Given the description of an element on the screen output the (x, y) to click on. 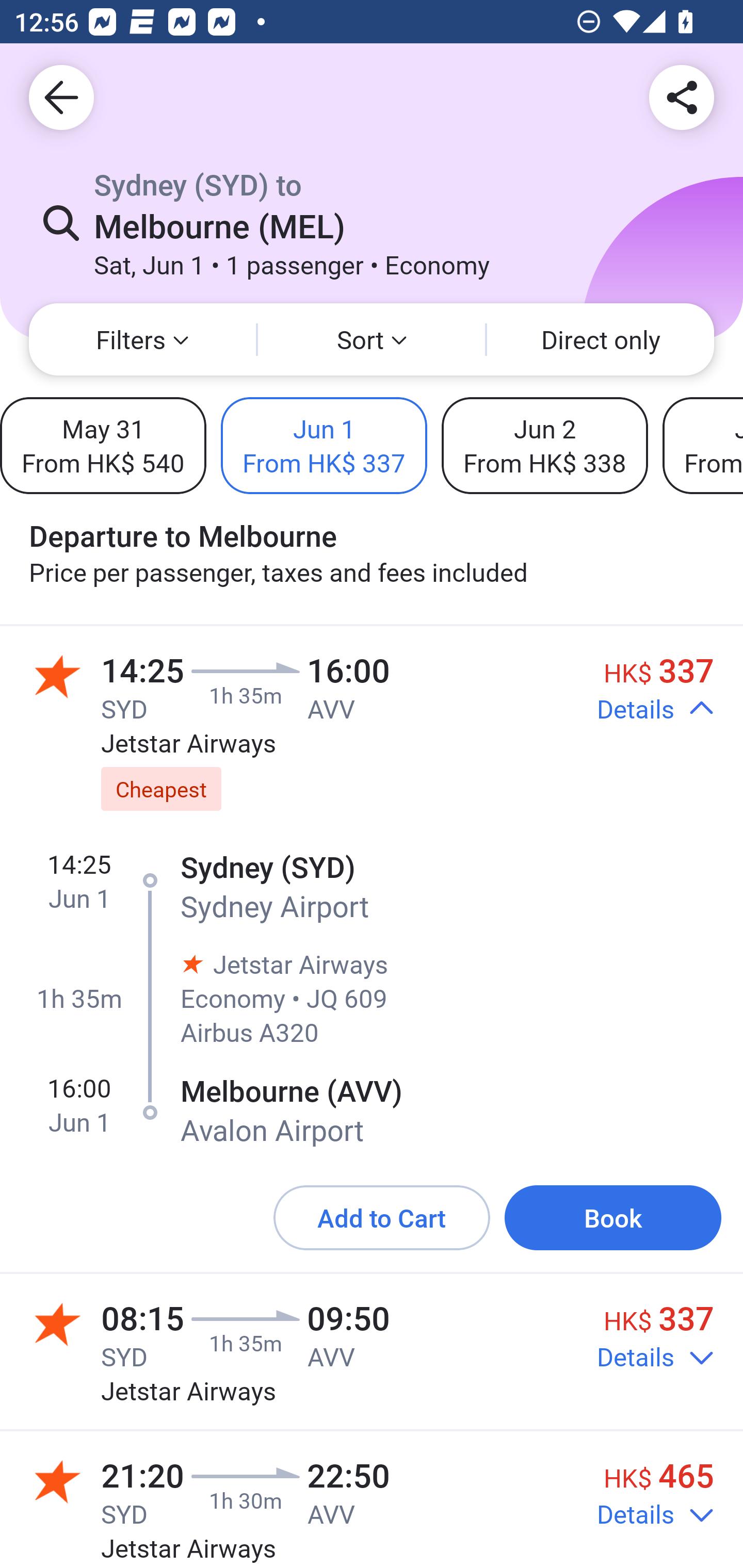
Filters (141, 339)
Sort (371, 339)
Direct only (600, 339)
May 31 From HK$ 540 (103, 444)
Jun 1 From HK$ 337 (323, 444)
Jun 2 From HK$ 338 (544, 444)
Add to Cart (381, 1217)
Book (612, 1217)
